Given the description of an element on the screen output the (x, y) to click on. 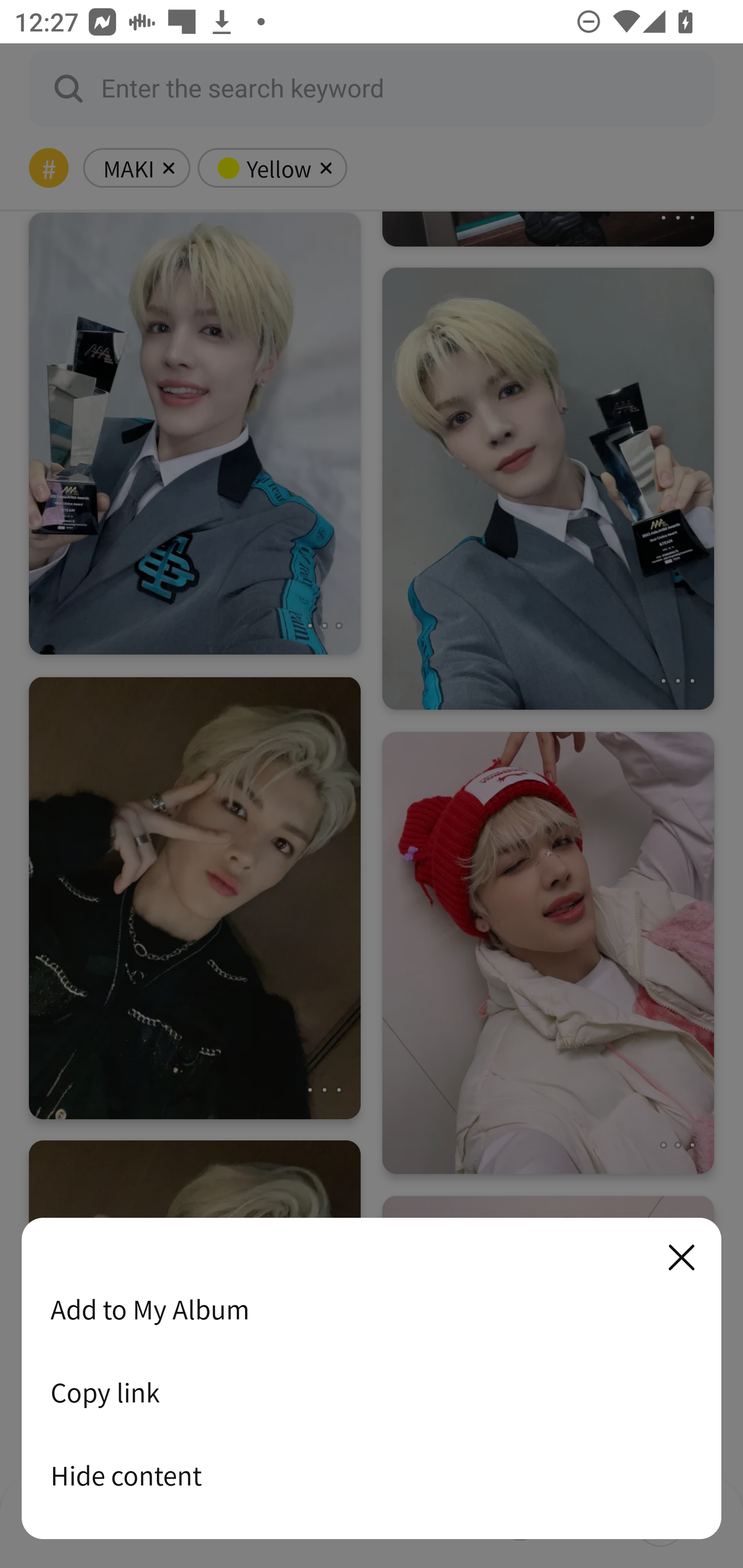
Add to My Album Copy link Hide content (371, 1378)
Add to My Album (371, 1308)
Copy link (371, 1391)
Hide content (371, 1474)
